Given the description of an element on the screen output the (x, y) to click on. 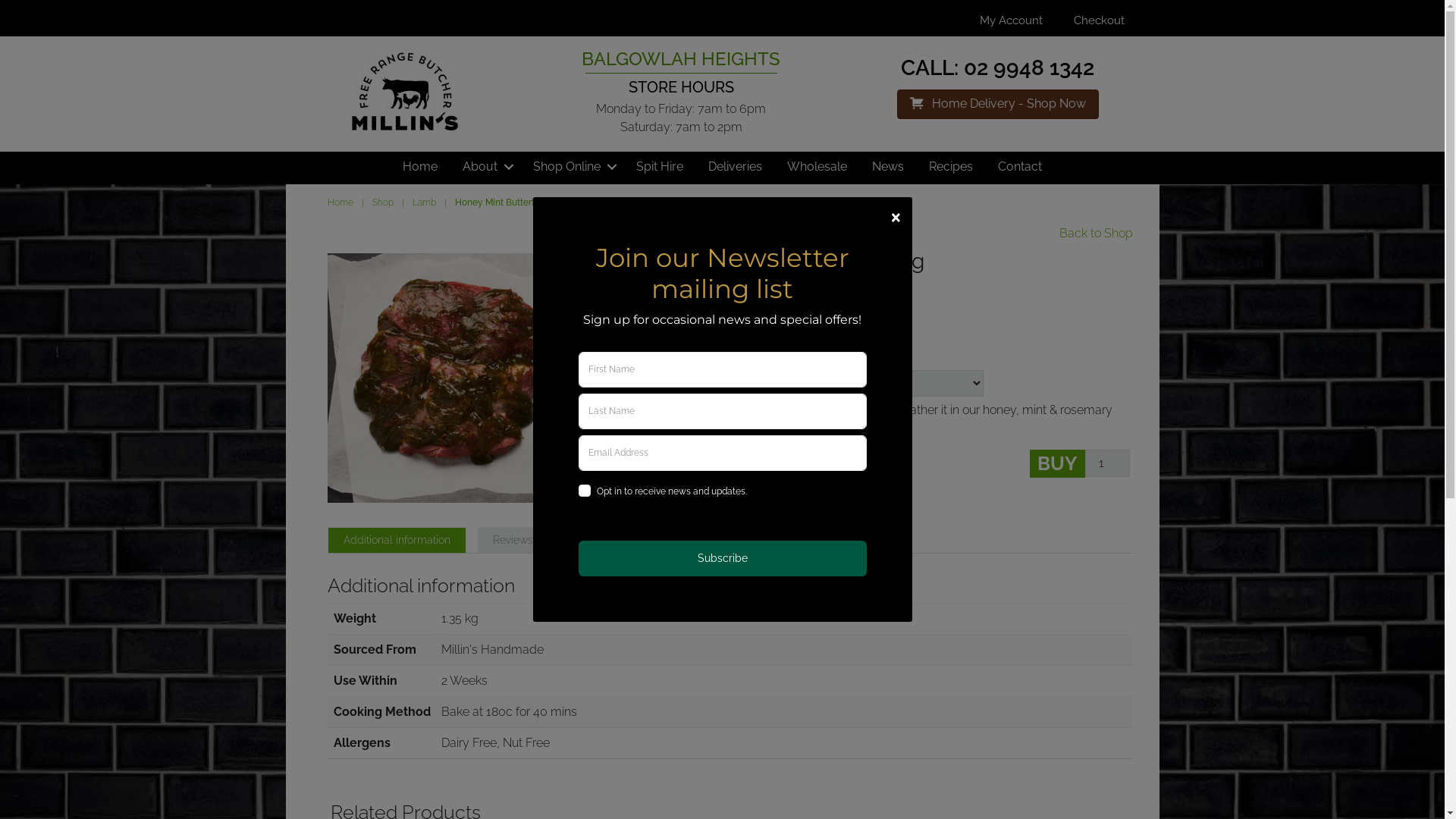
Home Delivery - Shop Now Element type: text (997, 104)
Share Element type: text (678, 333)
My Account Element type: text (1010, 20)
About Element type: text (485, 166)
Back to Shop Element type: text (1095, 233)
Lamb Element type: text (424, 202)
Home Element type: text (340, 202)
Additional information Element type: text (395, 539)
Home Element type: text (419, 166)
Tweet Element type: text (731, 333)
Deliveries Element type: text (735, 166)
Reviews (0) Element type: text (520, 539)
Recipes Element type: text (950, 166)
Shop Online Element type: text (571, 166)
Share Element type: text (625, 333)
Honey Mint Butterflied Lamb Leg Element type: hover (452, 377)
Pin Element type: text (784, 333)
Spit Hire Element type: text (659, 166)
Contact Element type: text (1019, 166)
cropped-MillinsLogo-Avatar.jpg Element type: hover (405, 93)
CALL: 02 9948 1342 Element type: text (997, 67)
News Element type: text (887, 166)
Checkout Element type: text (1098, 20)
Skip to main content Element type: text (0, 0)
Shop Element type: text (381, 202)
BUY Element type: text (1057, 463)
Wholesale Element type: text (817, 166)
